Given the description of an element on the screen output the (x, y) to click on. 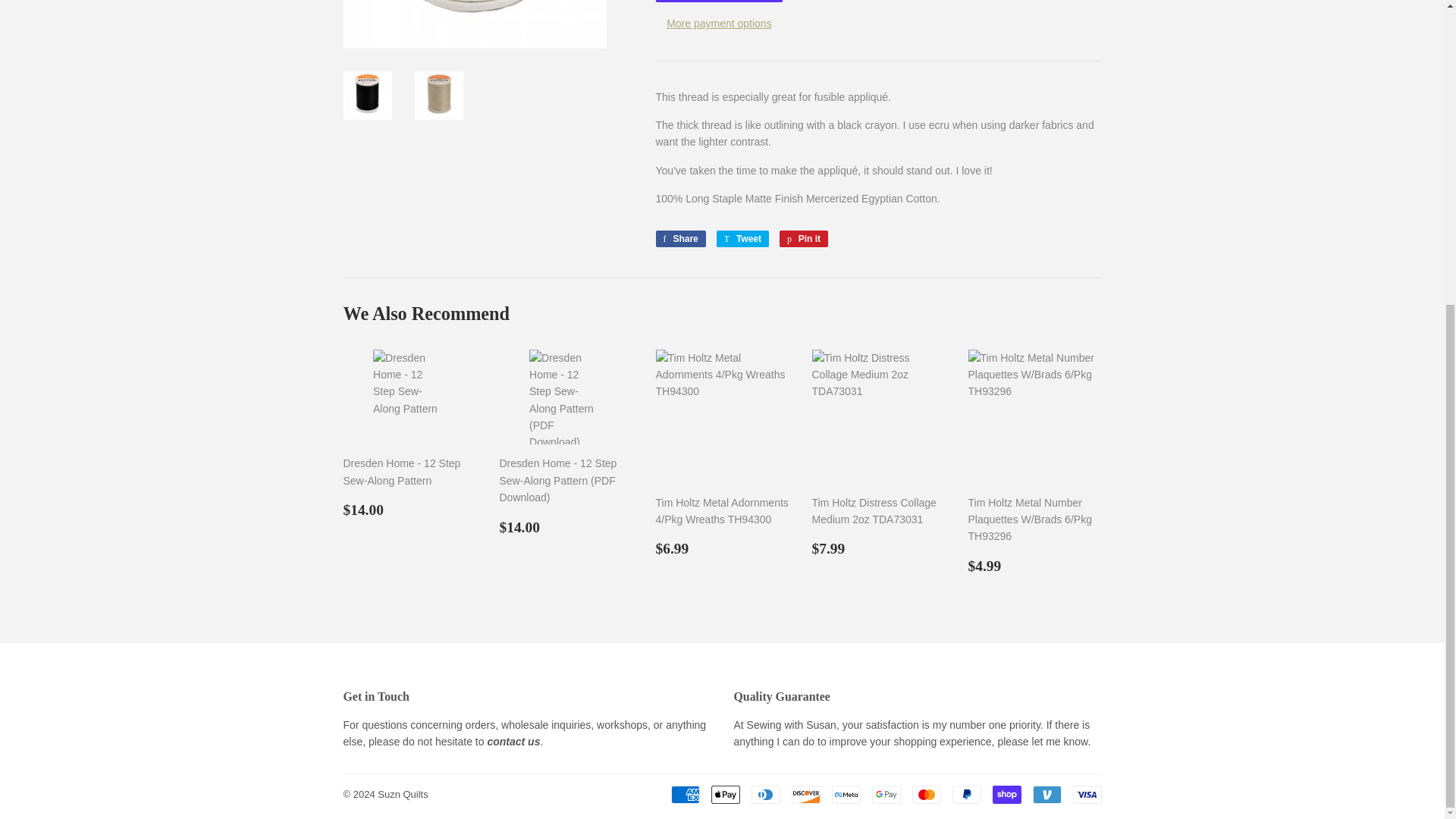
Visa (1085, 794)
Diners Club (764, 794)
Mastercard (925, 794)
Contact Us (513, 741)
Share on Facebook (679, 238)
Discover (806, 794)
Shop Pay (1005, 794)
Pin on Pinterest (803, 238)
American Express (683, 794)
PayPal (966, 794)
Apple Pay (725, 794)
Meta Pay (845, 794)
Google Pay (886, 794)
Venmo (1046, 794)
Tweet on Twitter (742, 238)
